Given the description of an element on the screen output the (x, y) to click on. 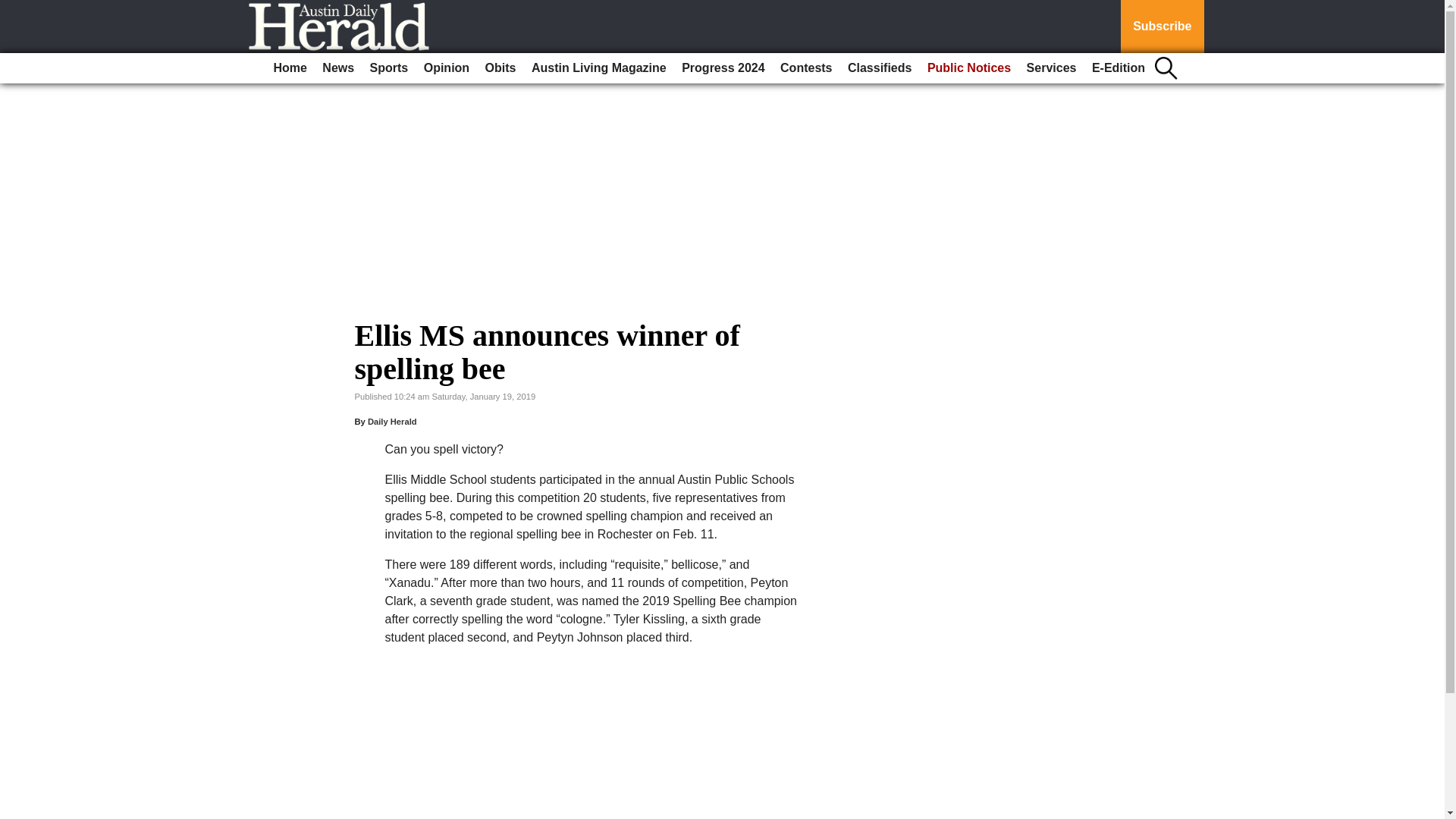
Home (289, 68)
News (337, 68)
Austin Living Magazine (598, 68)
Sports (389, 68)
Contests (806, 68)
Subscribe (1162, 26)
Classifieds (879, 68)
Obits (500, 68)
Opinion (446, 68)
Services (1051, 68)
